Given the description of an element on the screen output the (x, y) to click on. 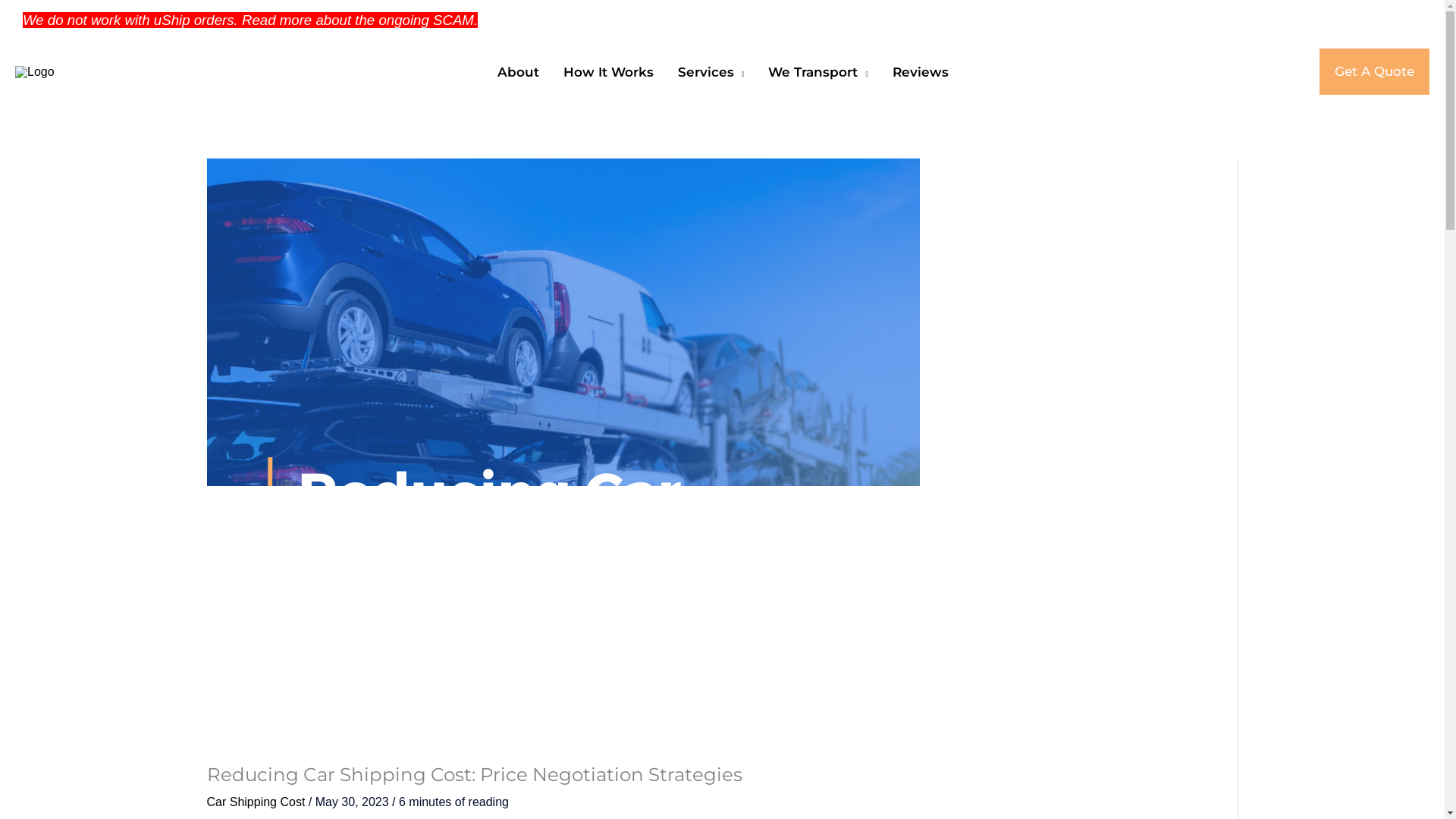
About (722, 125)
We Transport (722, 243)
Contact Us (1061, 89)
Get A Quote (1374, 203)
Blog (1061, 23)
How It Works (722, 165)
Reducing Car Shipping Cost: Price Negotiation Strategies 2 (285, 438)
Services (722, 204)
Reviews (722, 282)
Help (1061, 56)
Main Menu (31, 321)
